Given the description of an element on the screen output the (x, y) to click on. 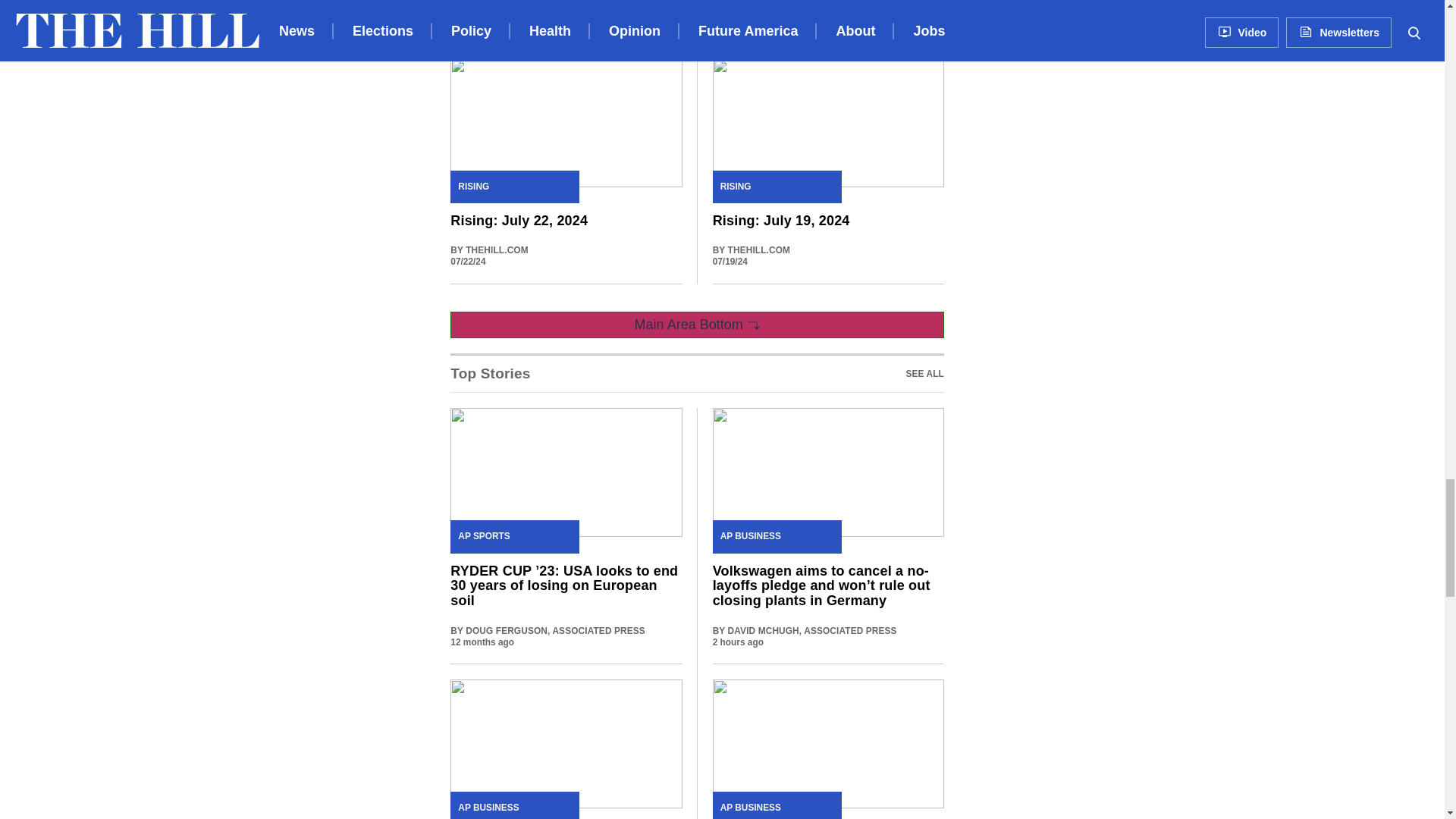
SEE ALL (696, 372)
SEE ALL (924, 373)
Top Stories (924, 373)
